Given the description of an element on the screen output the (x, y) to click on. 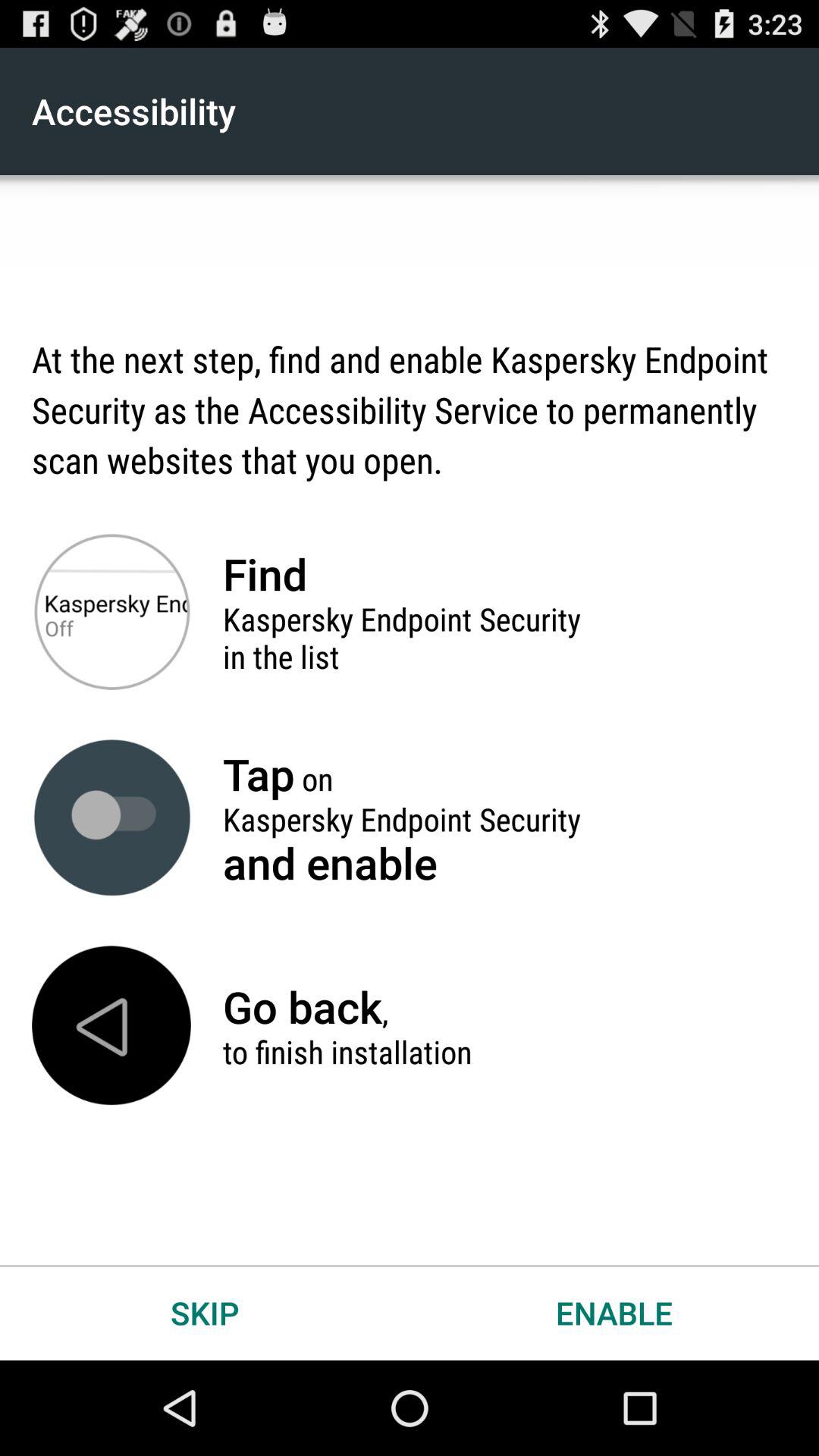
scroll until the skip icon (204, 1312)
